Given the description of an element on the screen output the (x, y) to click on. 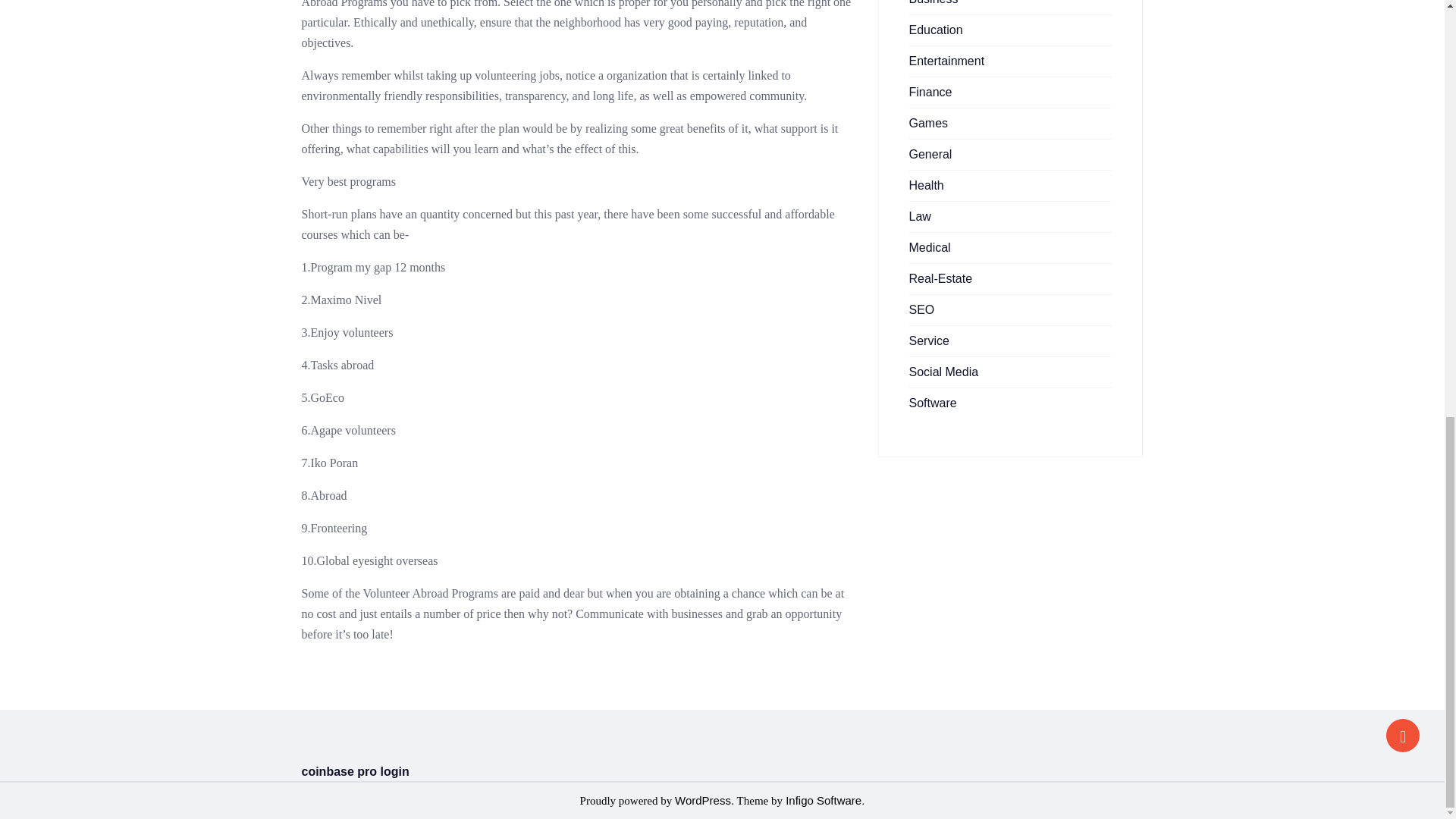
Medical (929, 246)
Finance (930, 91)
General (930, 154)
Real-Estate (940, 278)
Entertainment (946, 60)
WordPress. (704, 799)
coinbase pro login (355, 771)
Social Media (943, 371)
Law (919, 215)
Service (928, 340)
SEO (921, 309)
Education (935, 29)
Health (925, 185)
Games (927, 123)
Software (932, 402)
